Given the description of an element on the screen output the (x, y) to click on. 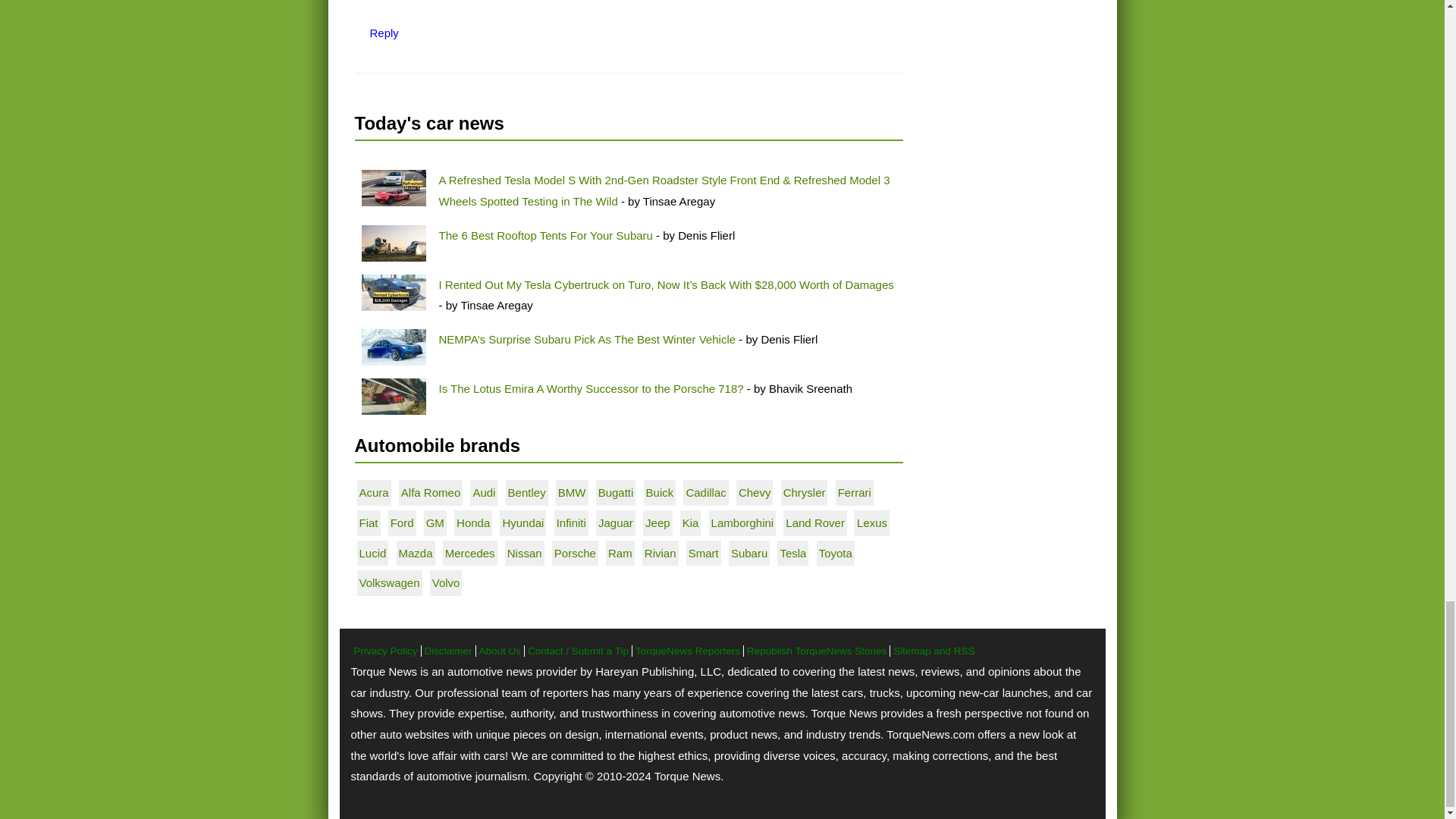
The 6 Best Rooftop Tents For Your Subaru (545, 235)
2024 Subaru Crosstrek Wilderness with a rooftop tent (393, 243)
2024 Subaru WRX in deep snow (393, 347)
Porsche 718 vs. Lotus Emira  (393, 396)
Reply (383, 32)
